Given the description of an element on the screen output the (x, y) to click on. 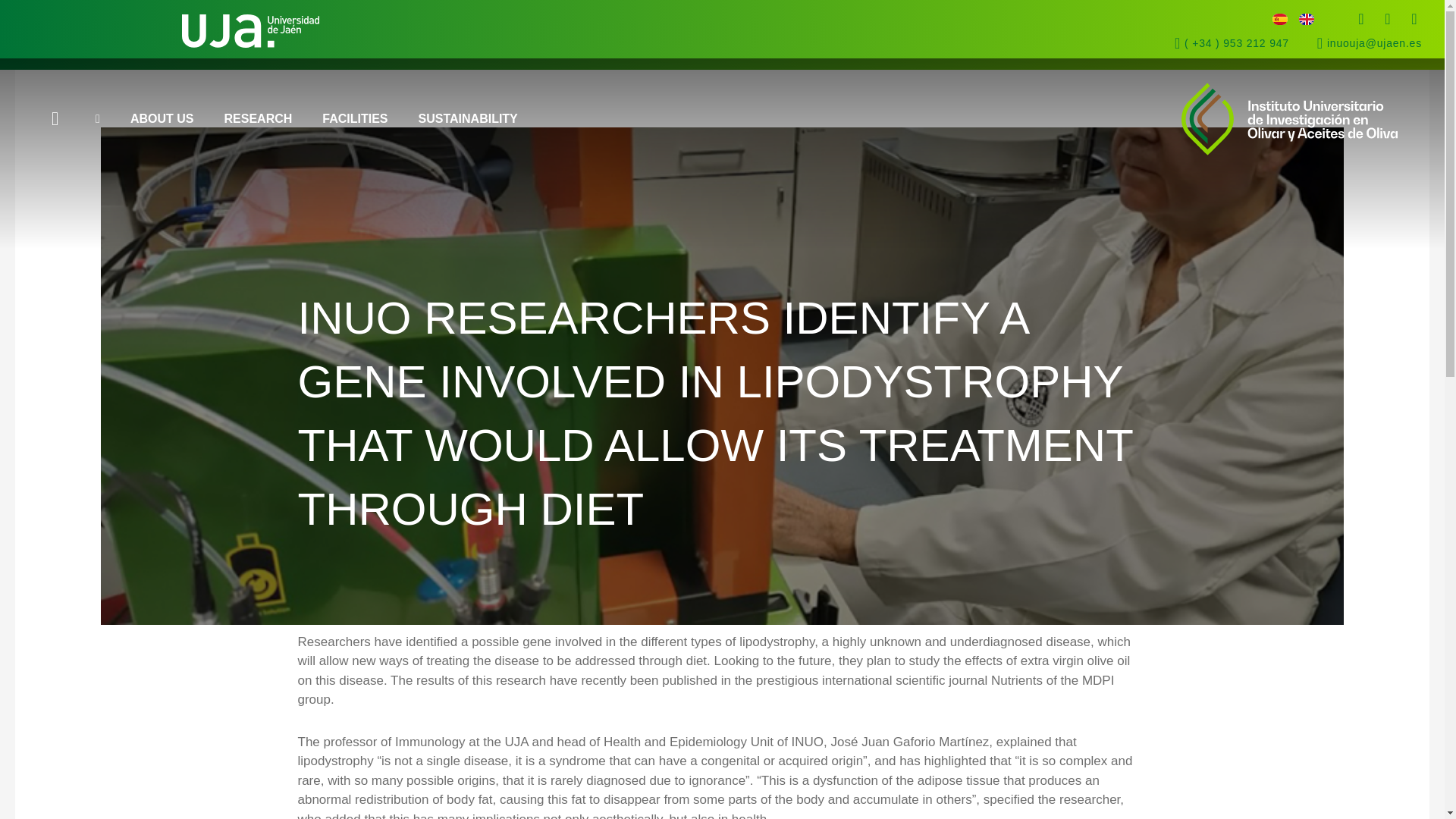
Facebook (1361, 18)
Linkedin (1414, 18)
X-twitter (1387, 18)
